Given the description of an element on the screen output the (x, y) to click on. 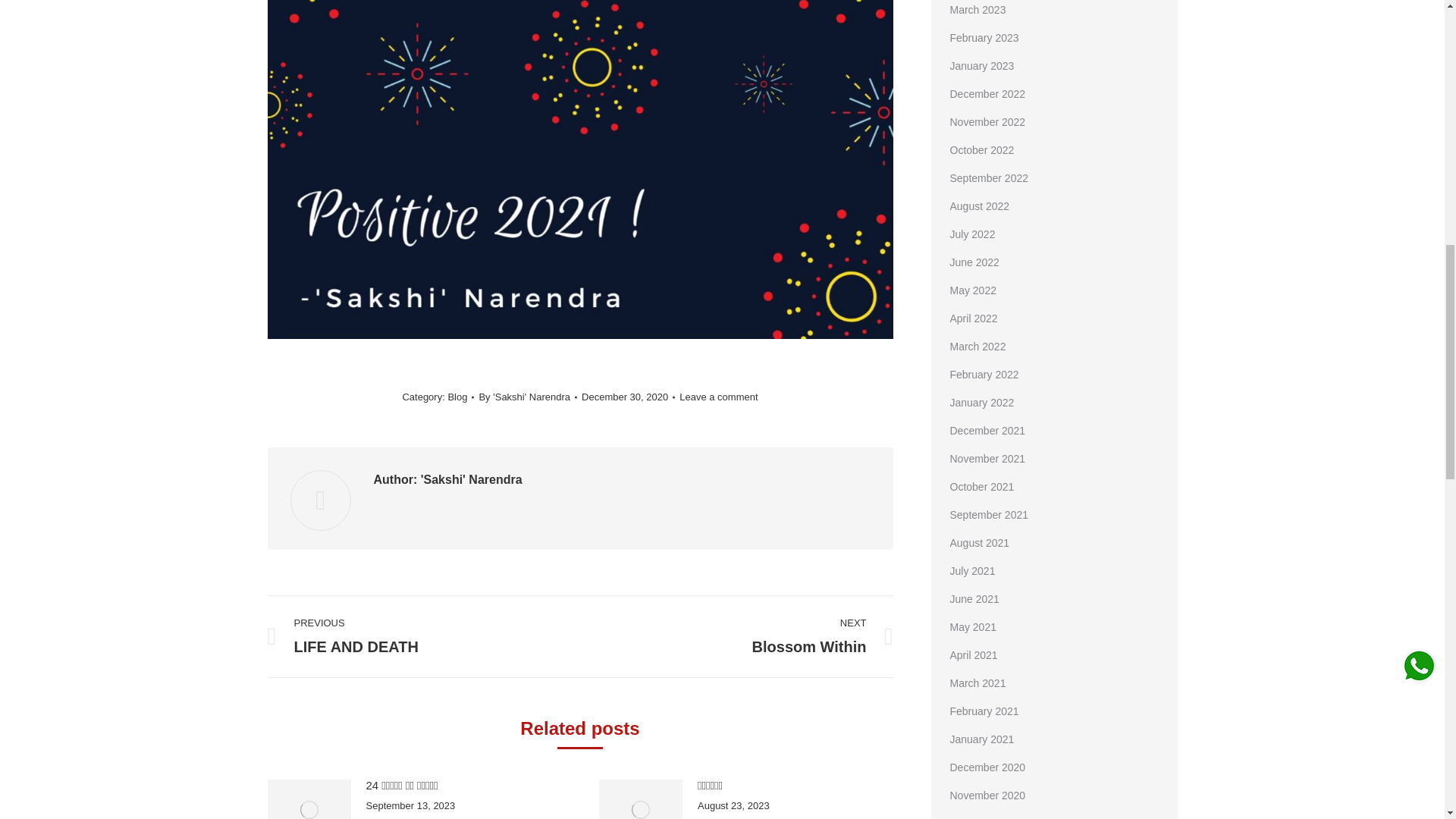
1:35 pm (627, 397)
View all posts by 'Sakshi' Narendra (527, 397)
